Given the description of an element on the screen output the (x, y) to click on. 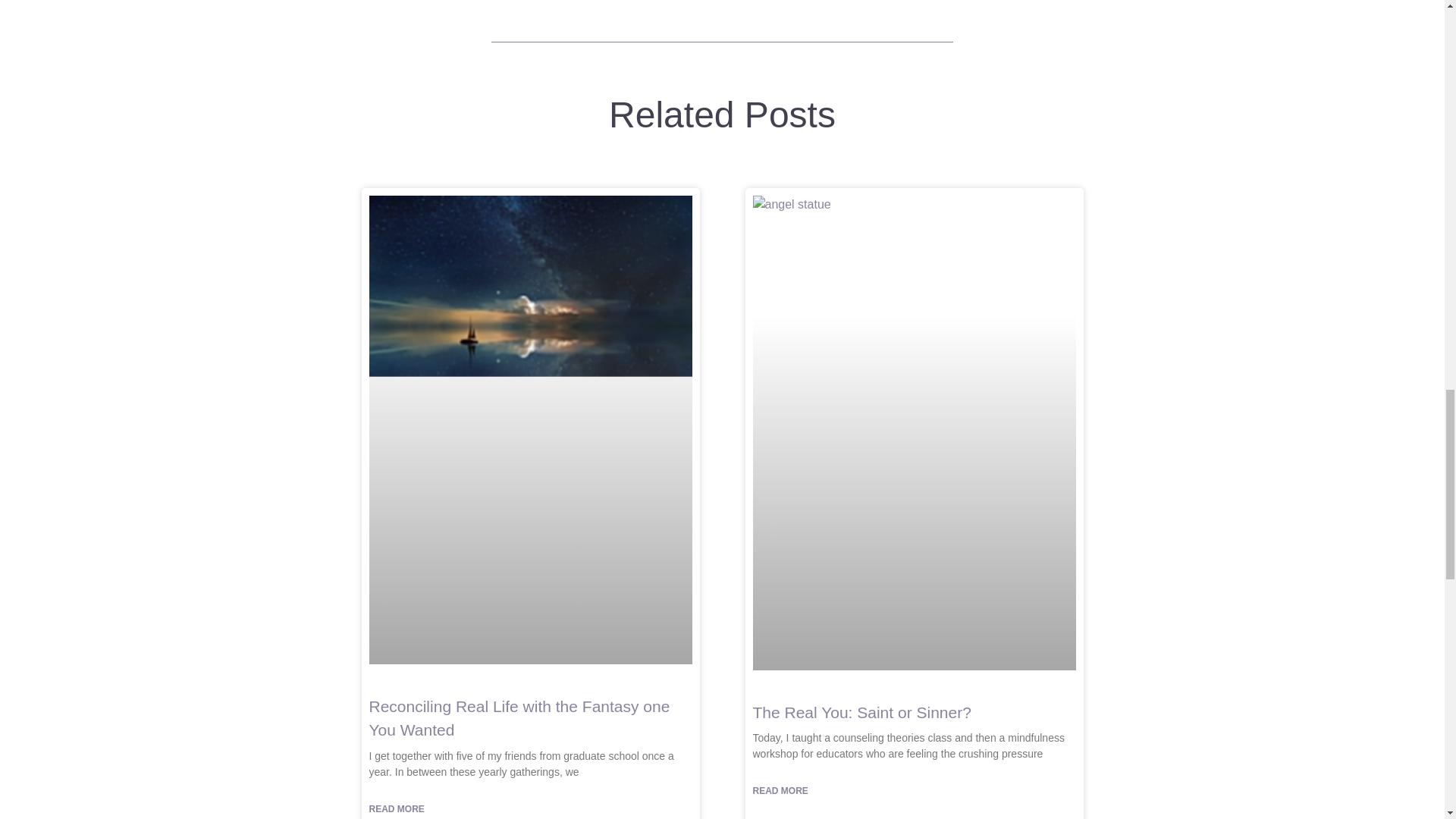
READ MORE (395, 809)
READ MORE (780, 791)
Reconciling Real Life with the Fantasy one You Wanted (518, 718)
The Real You: Saint or Sinner? (861, 712)
